Given the description of an element on the screen output the (x, y) to click on. 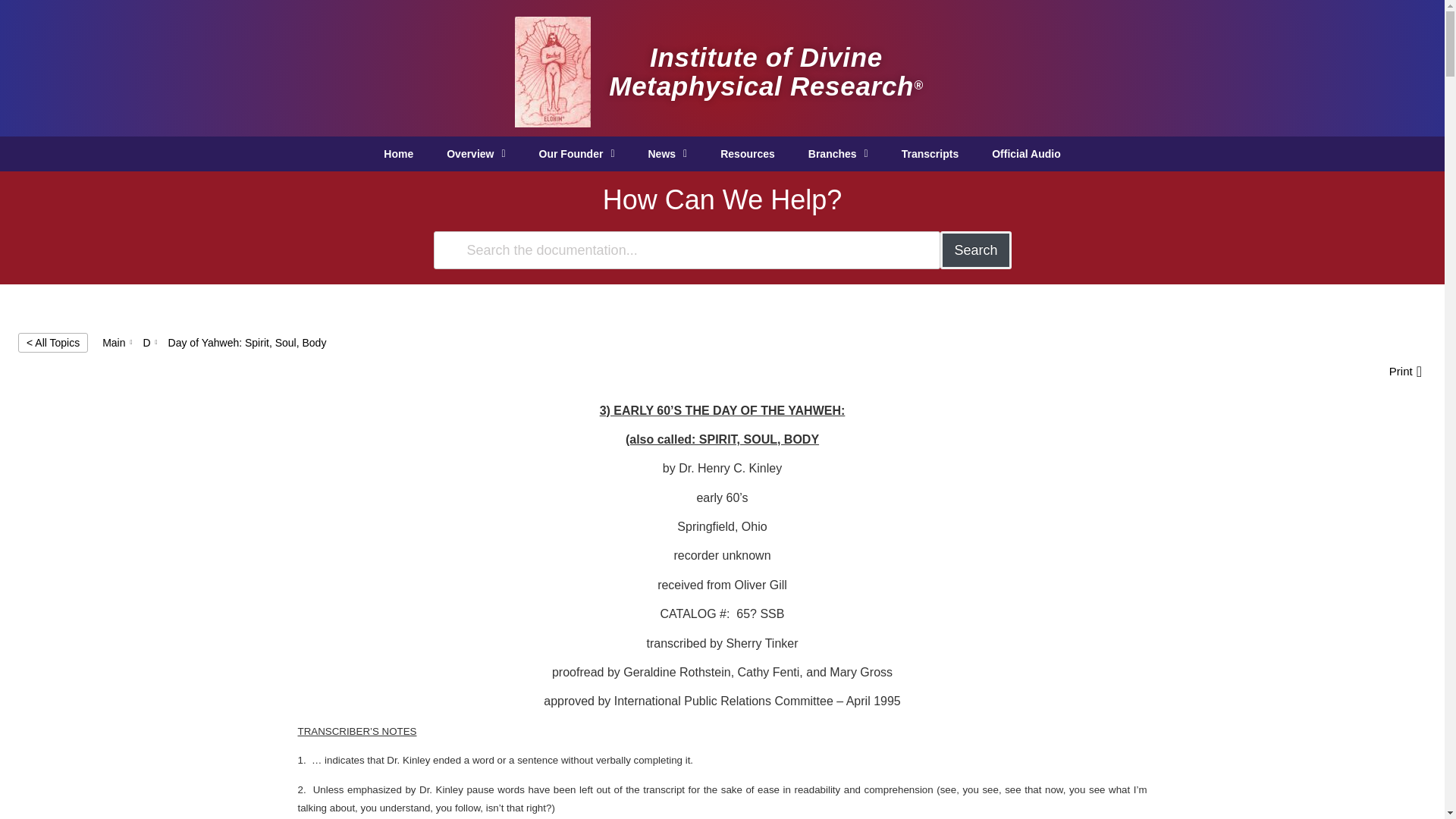
Our Founder (576, 153)
Home (397, 153)
News (666, 153)
Transcripts (930, 153)
Overview (475, 153)
Official Audio (1026, 153)
Branches (838, 153)
Resources (747, 153)
